Given the description of an element on the screen output the (x, y) to click on. 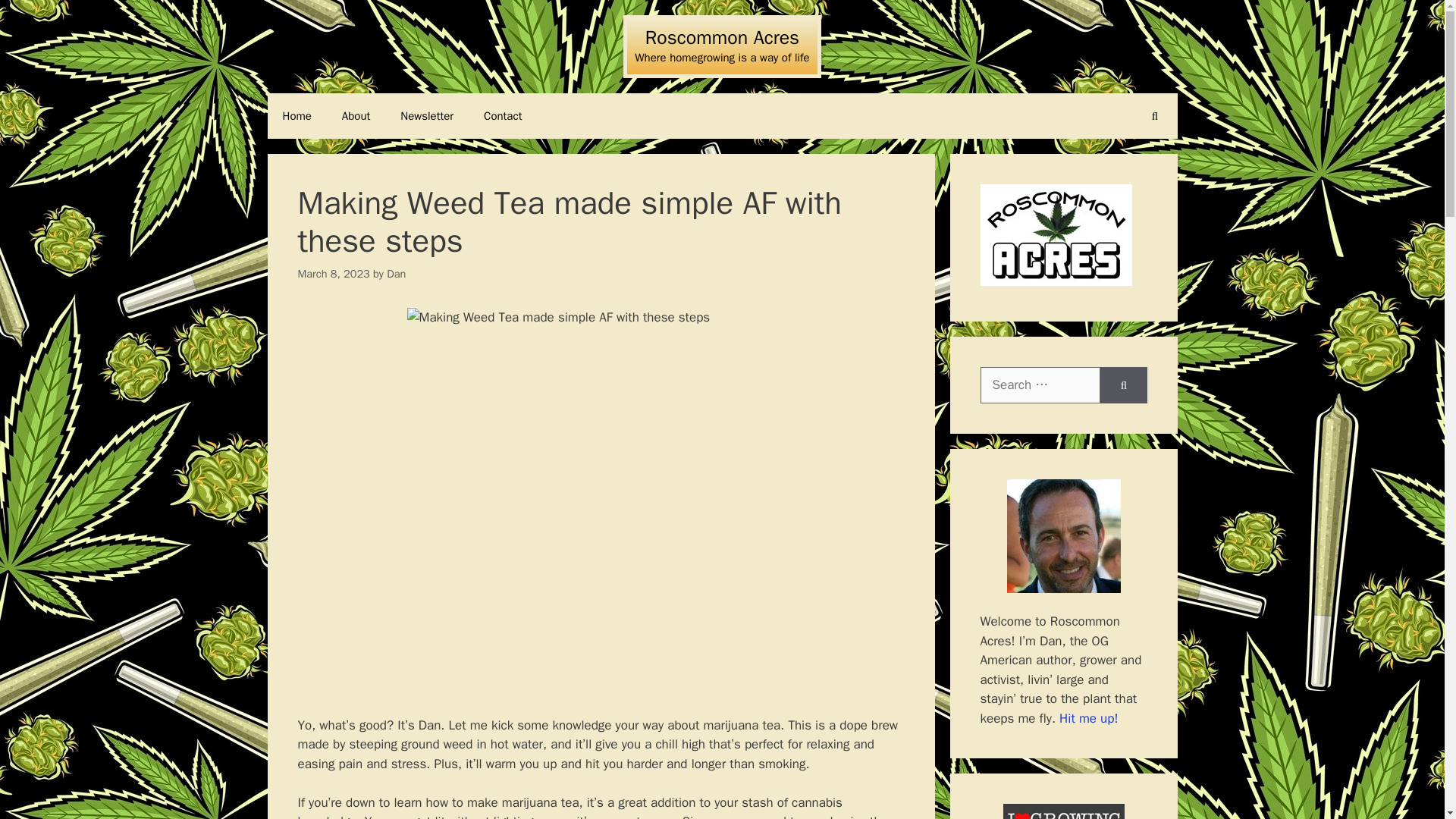
Dan (396, 273)
Search for: (1039, 384)
View all posts by Dan (396, 273)
Newsletter (426, 115)
Contact (502, 115)
Hit me up! (1088, 717)
Home (296, 115)
About (355, 115)
Roscommon Acres (722, 37)
